Given the description of an element on the screen output the (x, y) to click on. 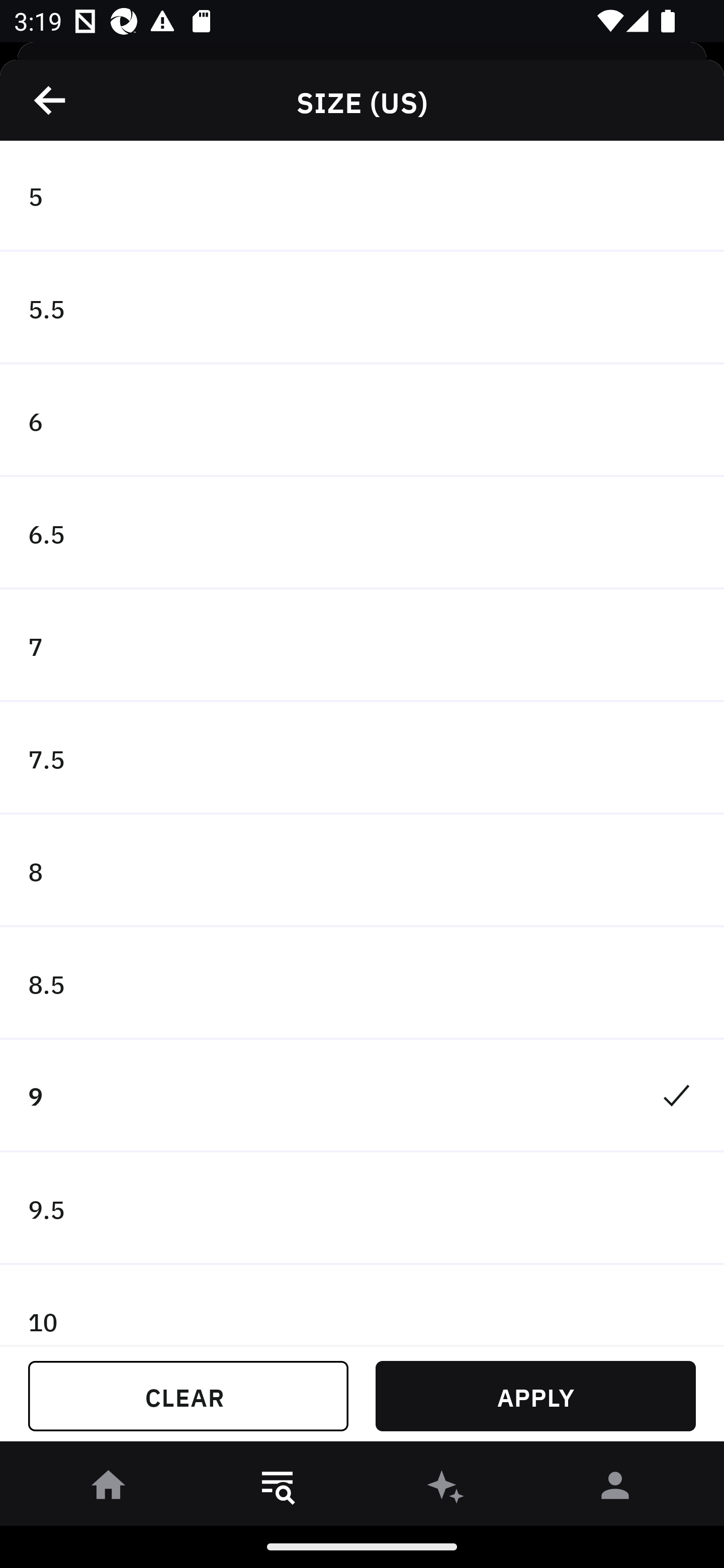
 (50, 100)
5 (362, 196)
5.5 (362, 307)
6 (362, 419)
6.5 (362, 532)
7 (362, 645)
7.5 (362, 758)
8 (362, 870)
8.5 (362, 982)
9  (362, 1095)
9.5 (362, 1208)
10 (362, 1305)
CLEAR  (188, 1396)
APPLY (535, 1396)
󰋜 (108, 1488)
󱎸 (277, 1488)
󰫢 (446, 1488)
󰀄 (615, 1488)
